Given the description of an element on the screen output the (x, y) to click on. 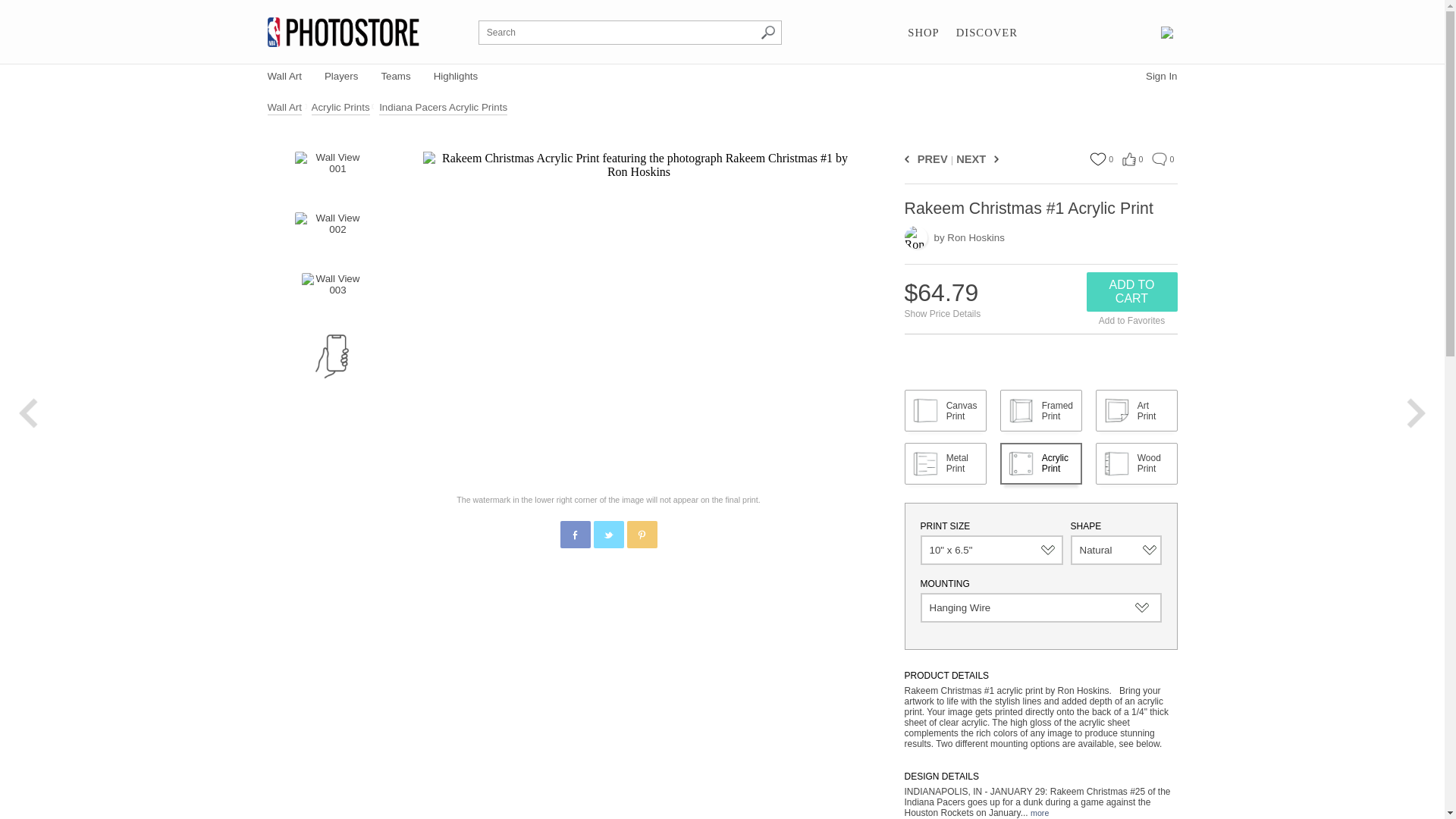
Facebook (575, 534)
Search (767, 32)
Launch Mobile App (331, 356)
Wall View 001 (331, 174)
Pinterest (642, 534)
Share Product on Pinterest (641, 533)
DISCOVER (987, 32)
Comment (1158, 159)
Share Product on Twitter (607, 533)
Share Product on Facebook (574, 533)
Favorite (1097, 159)
NBA Photo Store (342, 31)
SHOP (922, 32)
Wall View 003 (331, 295)
Wall View 002 (331, 234)
